Given the description of an element on the screen output the (x, y) to click on. 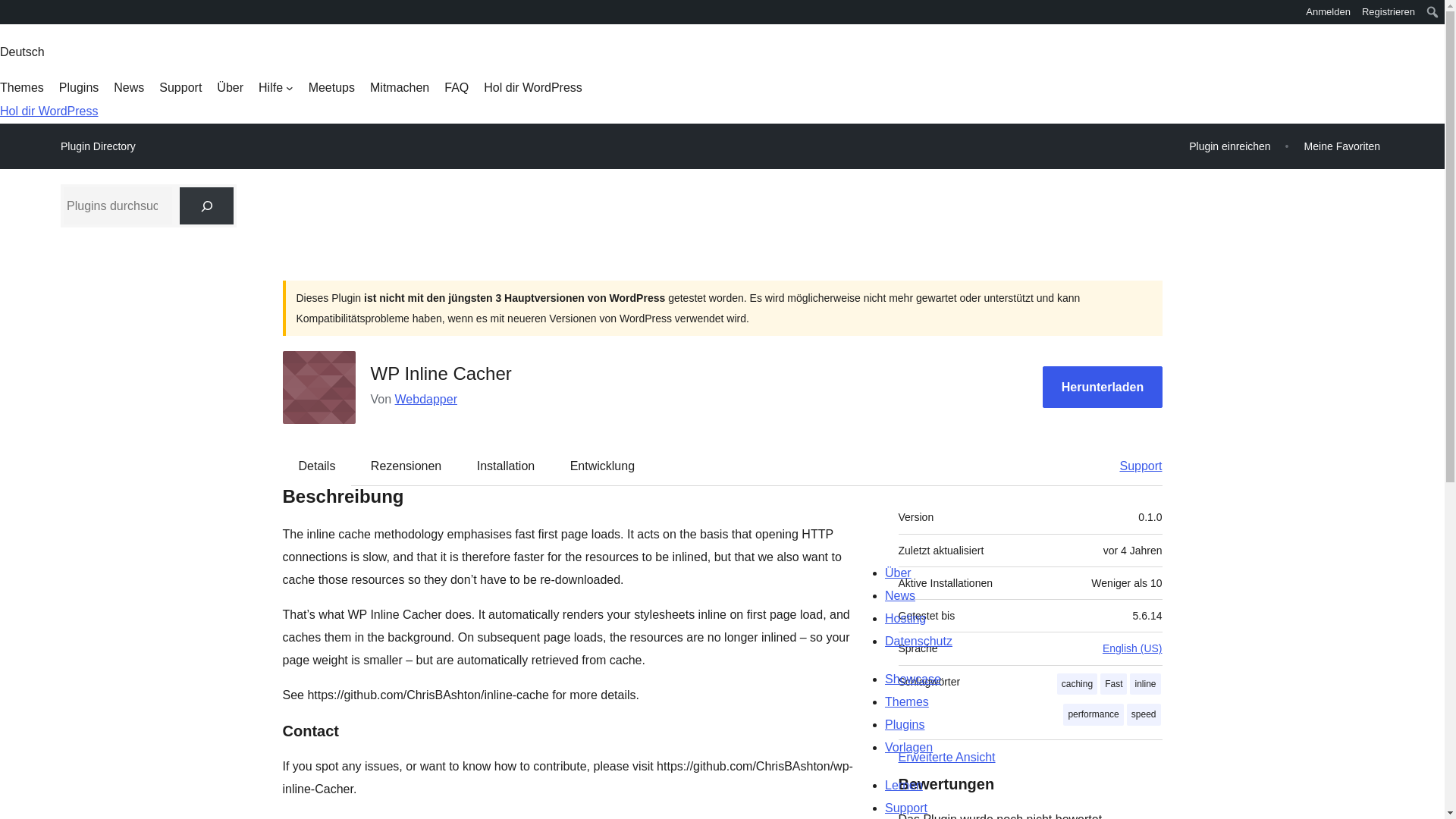
Hol dir WordPress (532, 87)
Support (180, 87)
Webdapper (425, 399)
Plugin einreichen (1229, 145)
Rezensionen (406, 466)
Hilfe (276, 87)
Mitmachen (399, 87)
Anmelden (1328, 12)
Hol dir WordPress (49, 110)
Installation (505, 466)
Support (1132, 466)
Herunterladen (1101, 386)
Meetups (331, 87)
Plugin Directory (97, 146)
Registrieren (1388, 12)
